Given the description of an element on the screen output the (x, y) to click on. 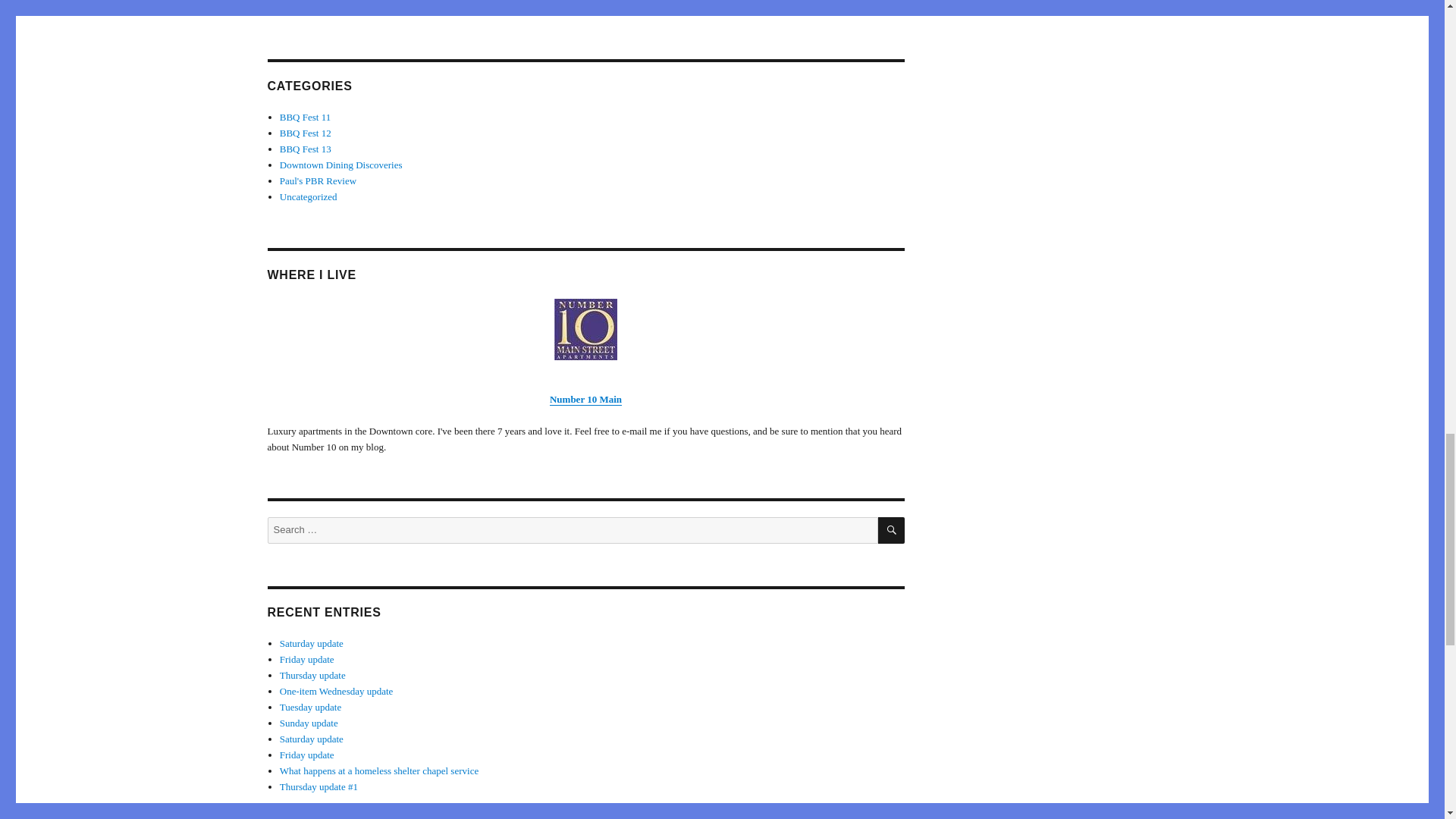
Thursday update (312, 674)
Sunday update (308, 722)
Paul's PBR Review (317, 180)
One-item Wednesday update (336, 690)
Saturday update (311, 643)
Tuesday update (310, 706)
SEARCH (890, 529)
Friday update (306, 754)
Saturday update (311, 738)
Uncategorized (308, 196)
